Given the description of an element on the screen output the (x, y) to click on. 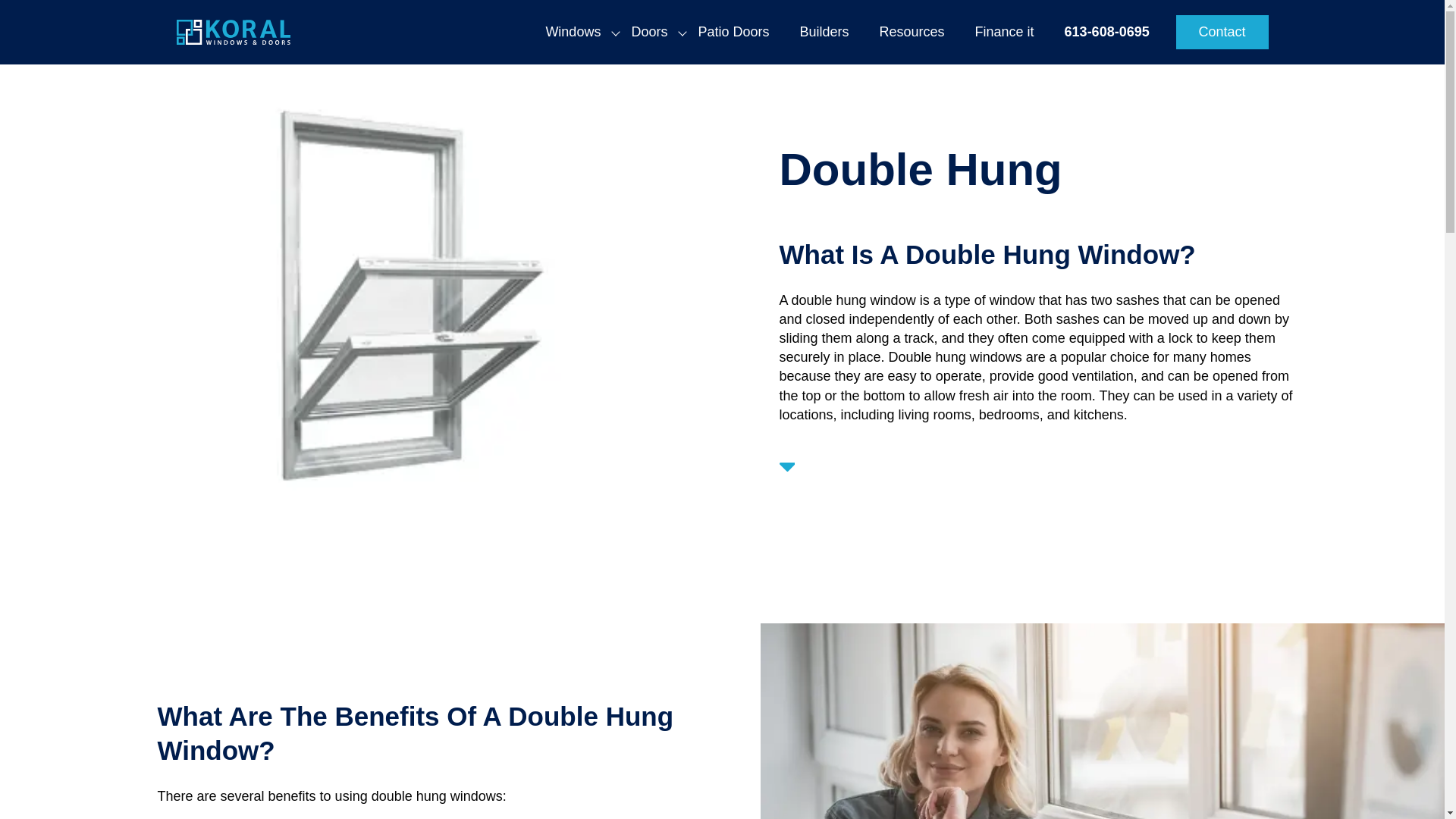
Finance it (1004, 32)
Builders (823, 32)
Contact (1222, 32)
Patio Doors (733, 32)
613-608-0695 (1106, 32)
Resources (911, 32)
Windows (572, 32)
Doors (648, 32)
